Given the description of an element on the screen output the (x, y) to click on. 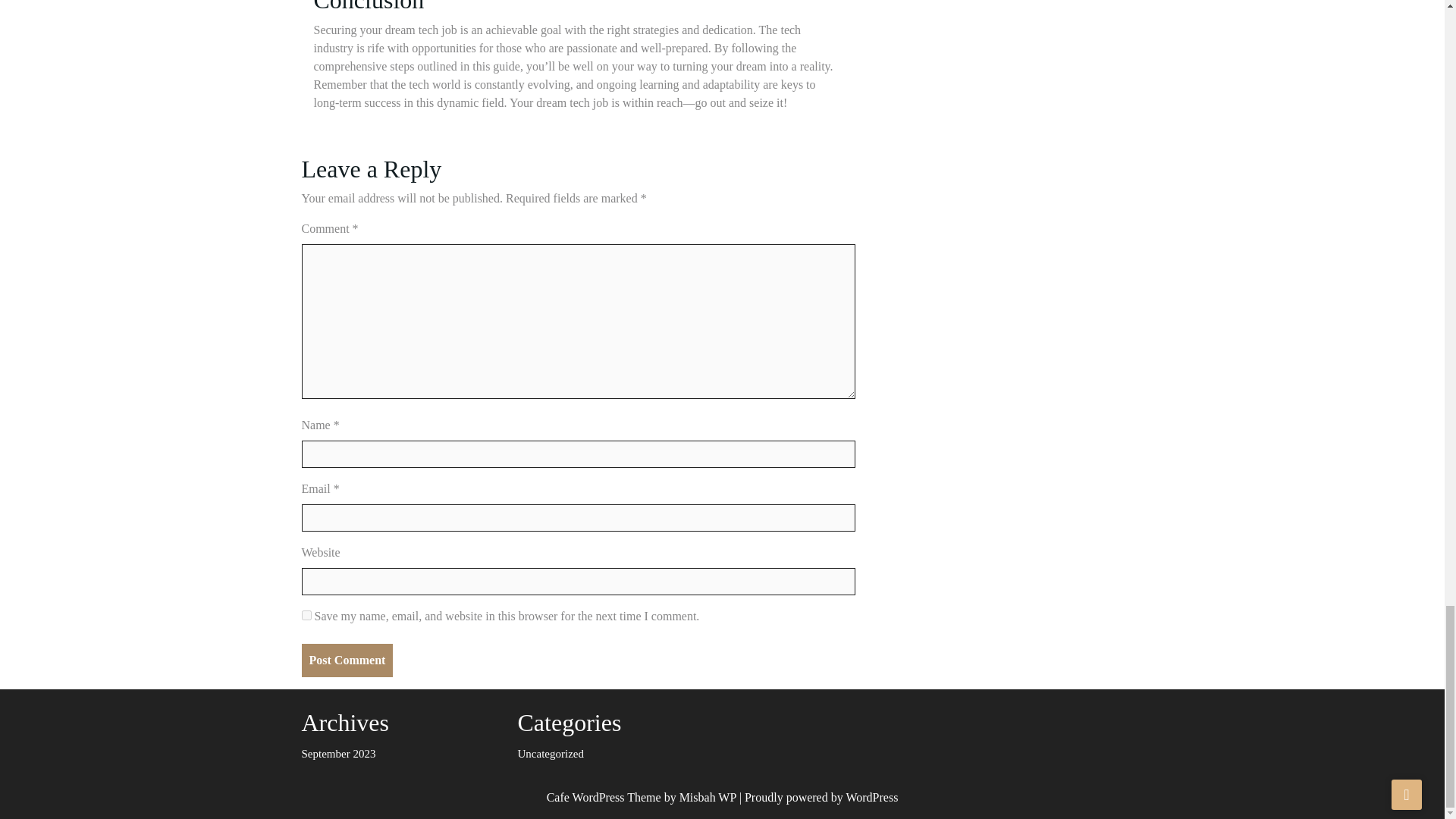
Uncategorized (549, 753)
Cafe WordPress Theme (604, 797)
September 2023 (338, 753)
Post Comment (347, 660)
Post Comment (347, 660)
yes (306, 614)
